Given the description of an element on the screen output the (x, y) to click on. 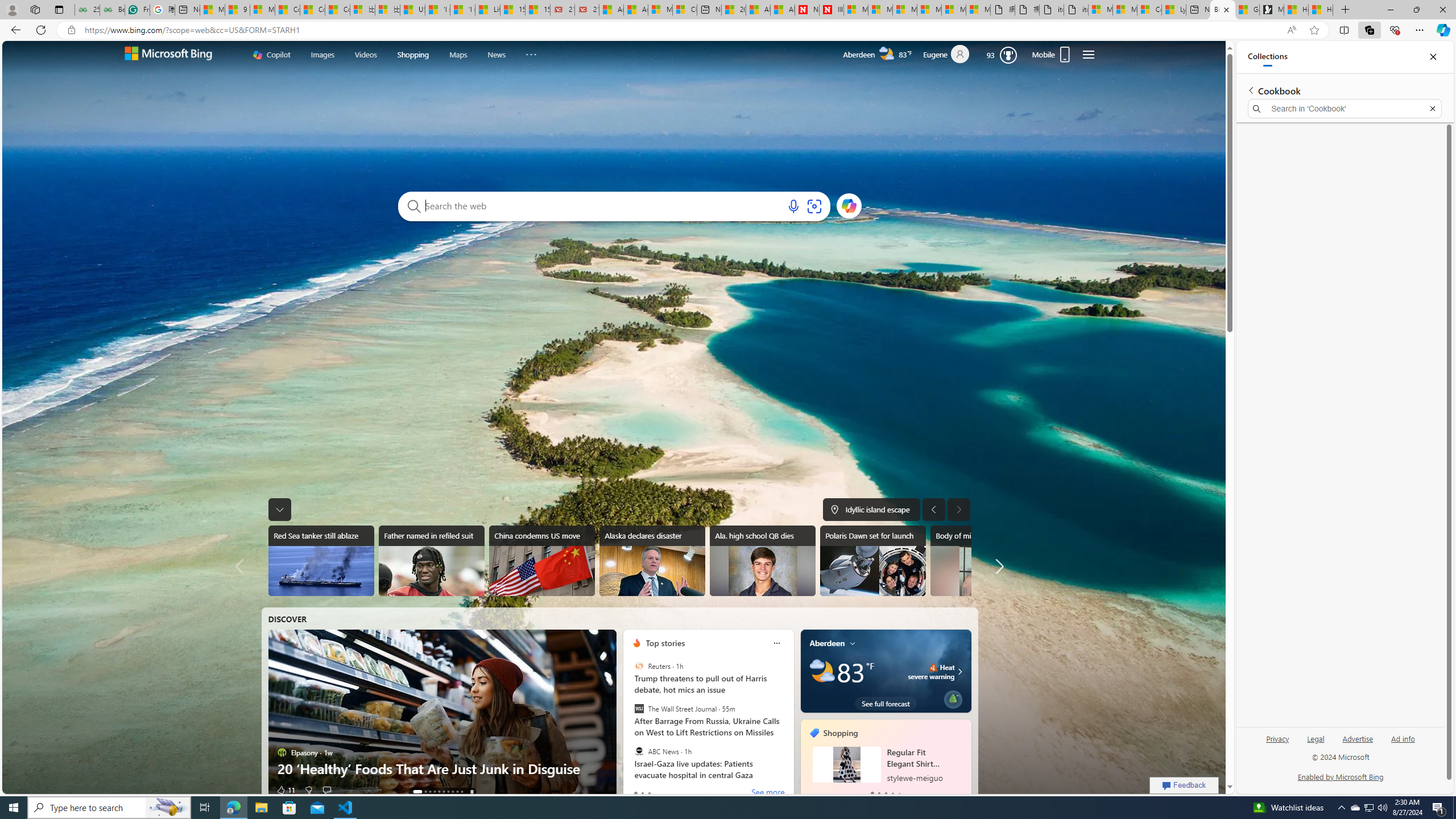
Grow a virtual seed into a real tree (952, 697)
Previous news (242, 566)
15 Ways Modern Life Contradicts the Teachings of Jesus (536, 9)
Exit search (1432, 108)
AutomationID: tab-2 (430, 791)
previous (805, 760)
